Given the description of an element on the screen output the (x, y) to click on. 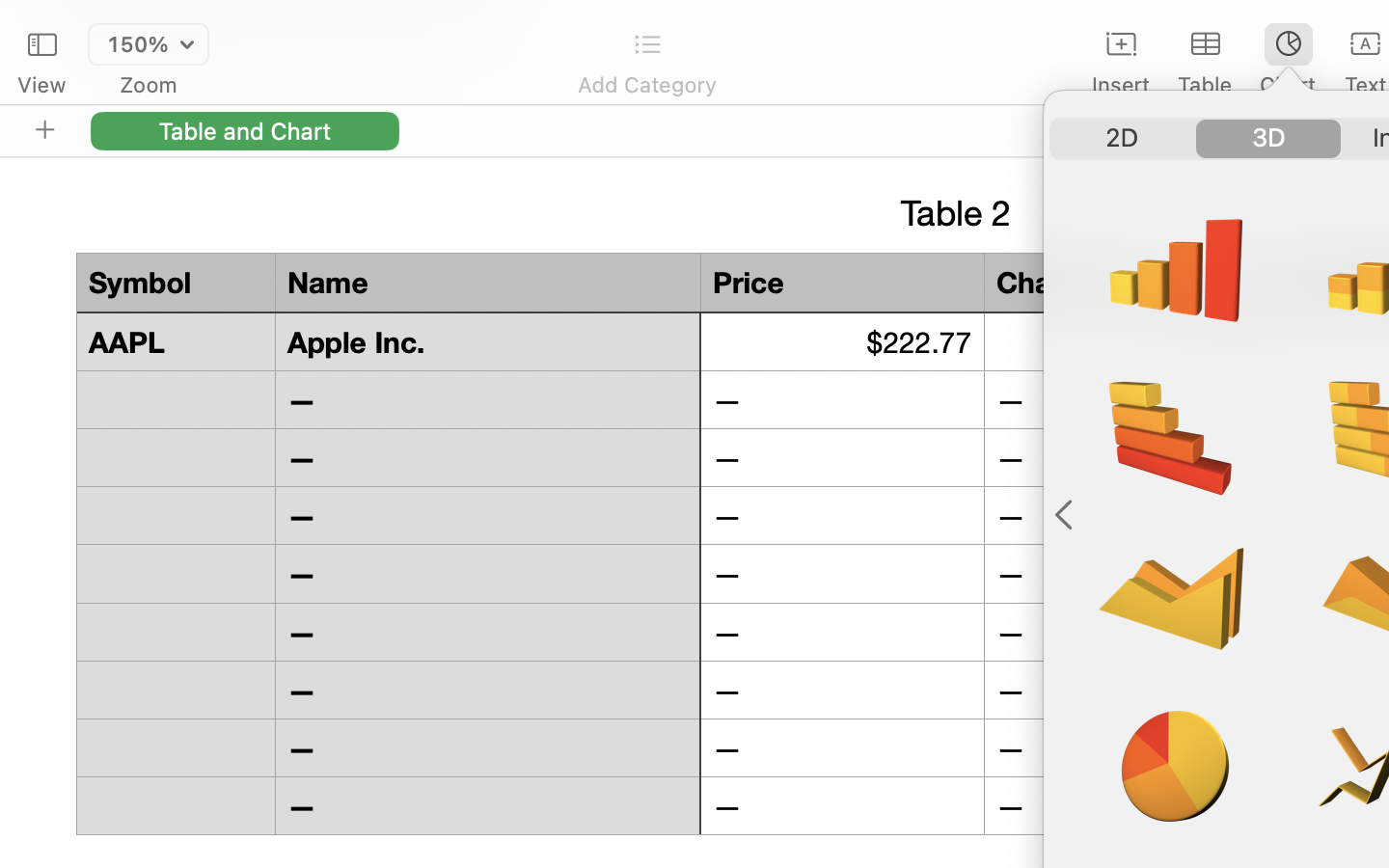
Untitled Element type: AXStaticText (1334, 24)
Insert Element type: AXStaticText (1120, 84)
Table and Chart Element type: AXStaticText (244, 129)
